Given the description of an element on the screen output the (x, y) to click on. 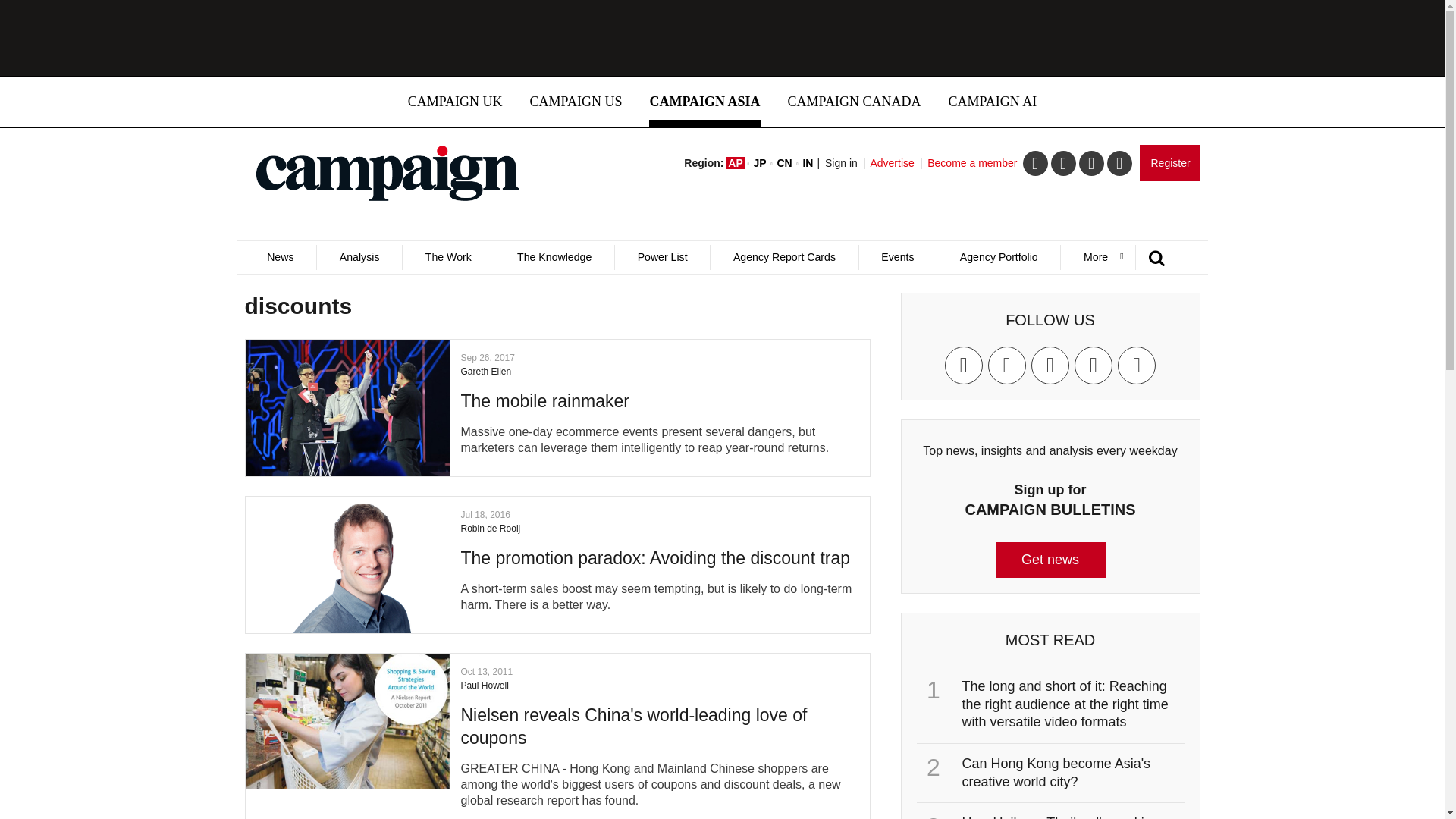
CAMPAIGN CANADA (854, 101)
Events (898, 257)
Become a member (971, 162)
Advertise (891, 162)
Agency Report Cards (783, 257)
AP (735, 162)
Analysis (358, 257)
Power List (662, 257)
News (279, 257)
Sign in (841, 162)
The Work (447, 257)
Register (1168, 162)
Power List (662, 257)
Advertise (891, 162)
Agency Report Cards (783, 257)
